Given the description of an element on the screen output the (x, y) to click on. 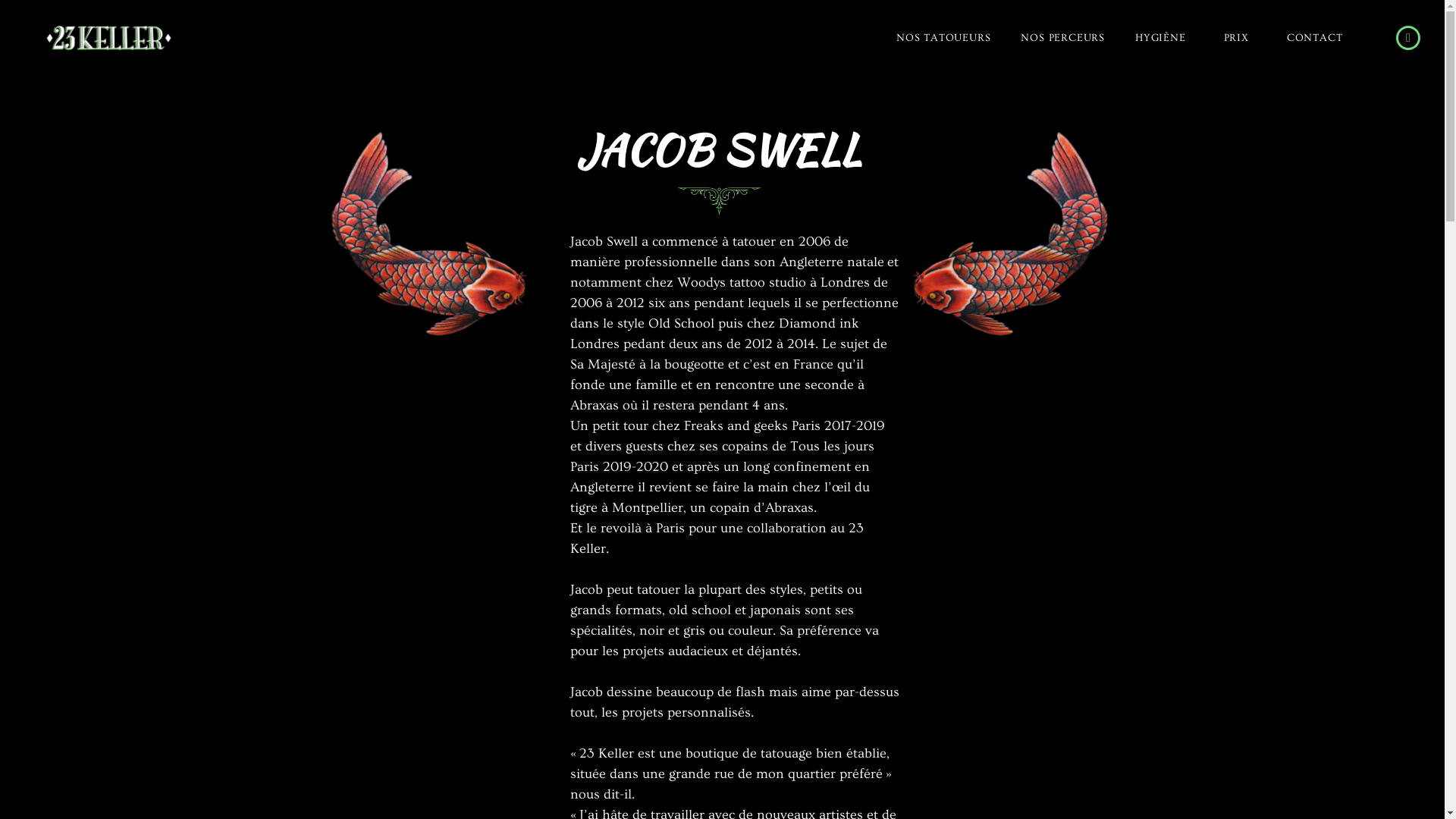
NOS TATOUEURS Element type: text (943, 37)
NOS PERCEURS Element type: text (1062, 37)
PRIX Element type: text (1239, 37)
CONTACT Element type: text (1314, 37)
